Given the description of an element on the screen output the (x, y) to click on. 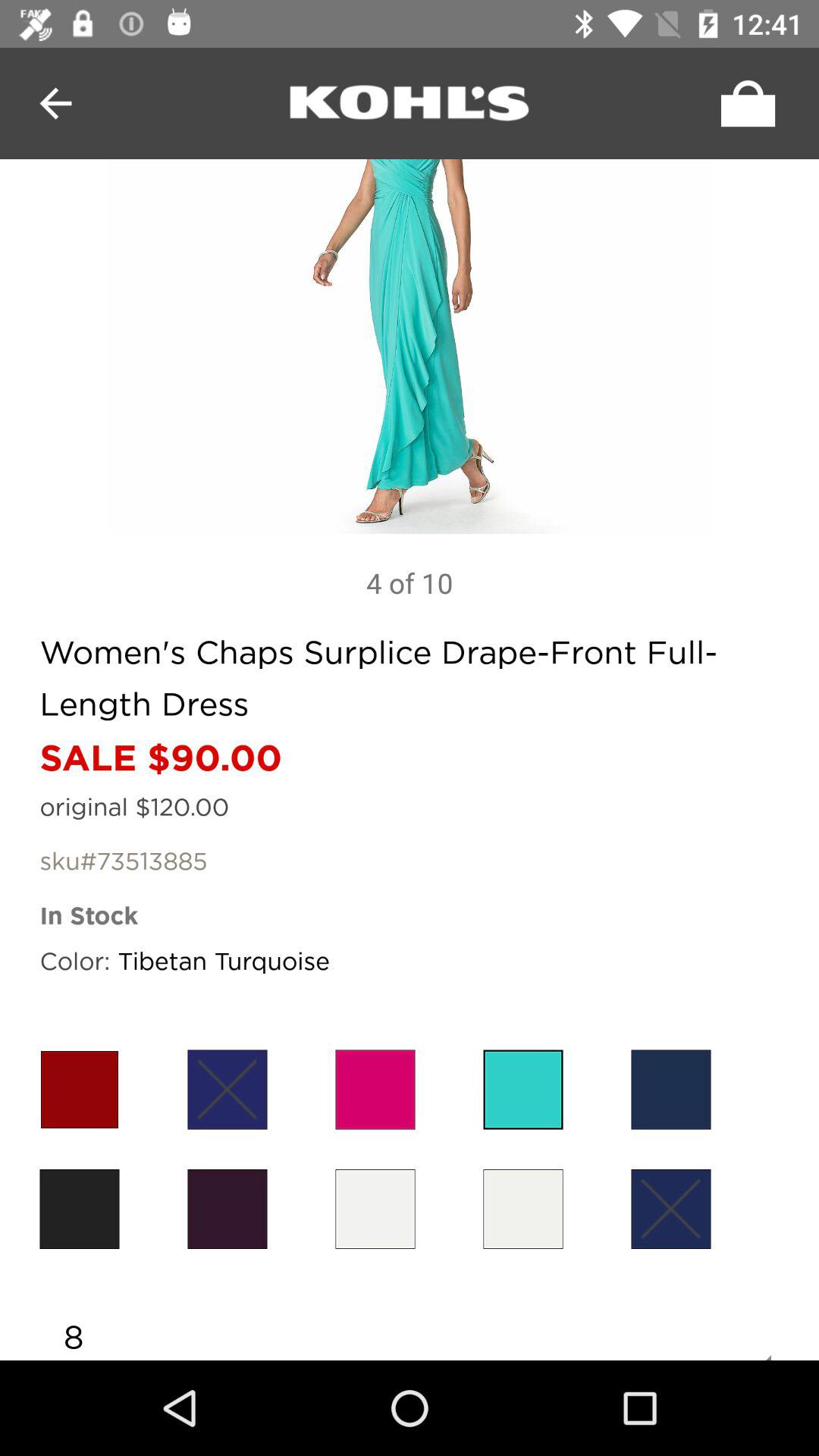
go back (55, 103)
